Given the description of an element on the screen output the (x, y) to click on. 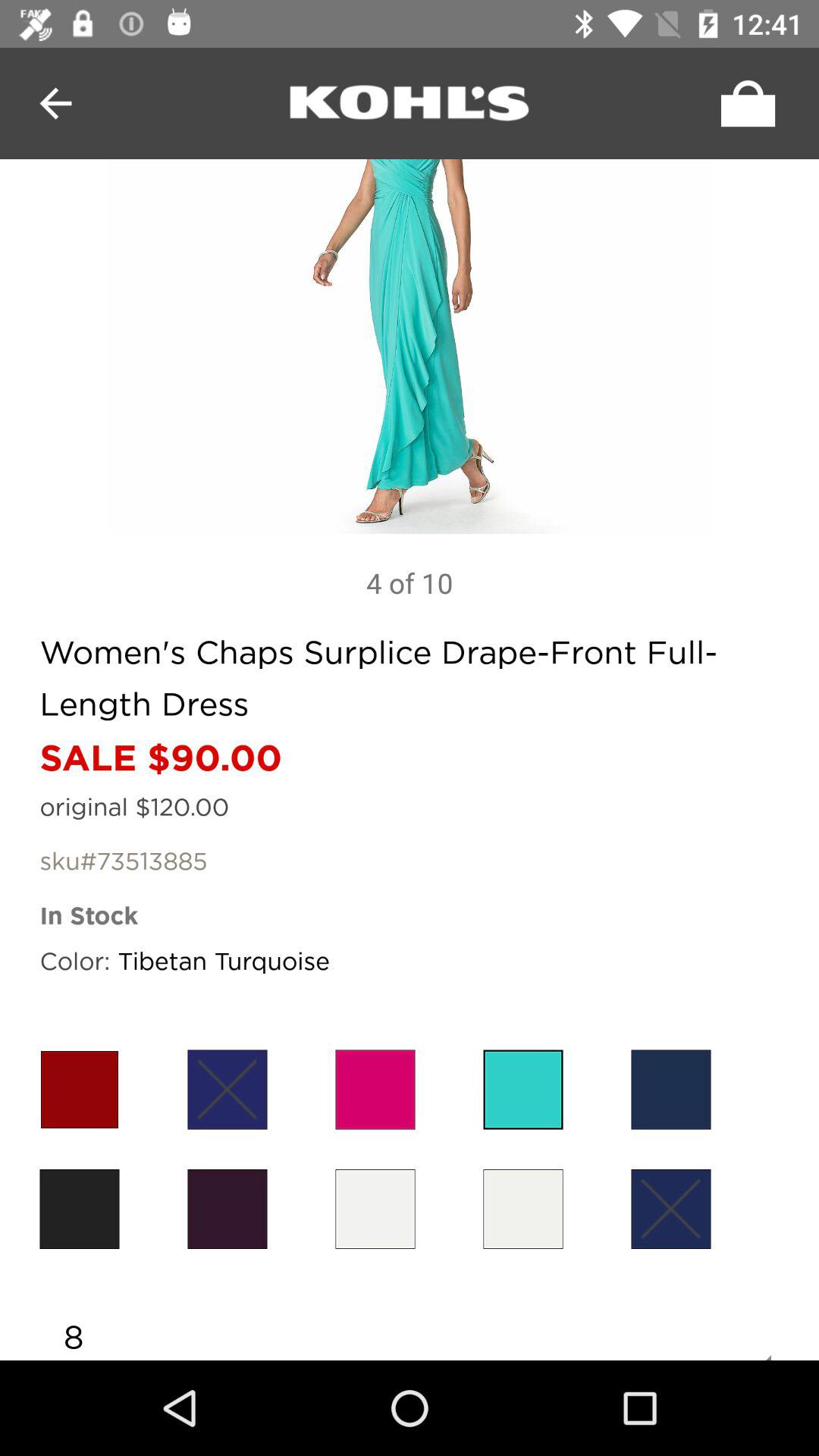
go back (55, 103)
